Given the description of an element on the screen output the (x, y) to click on. 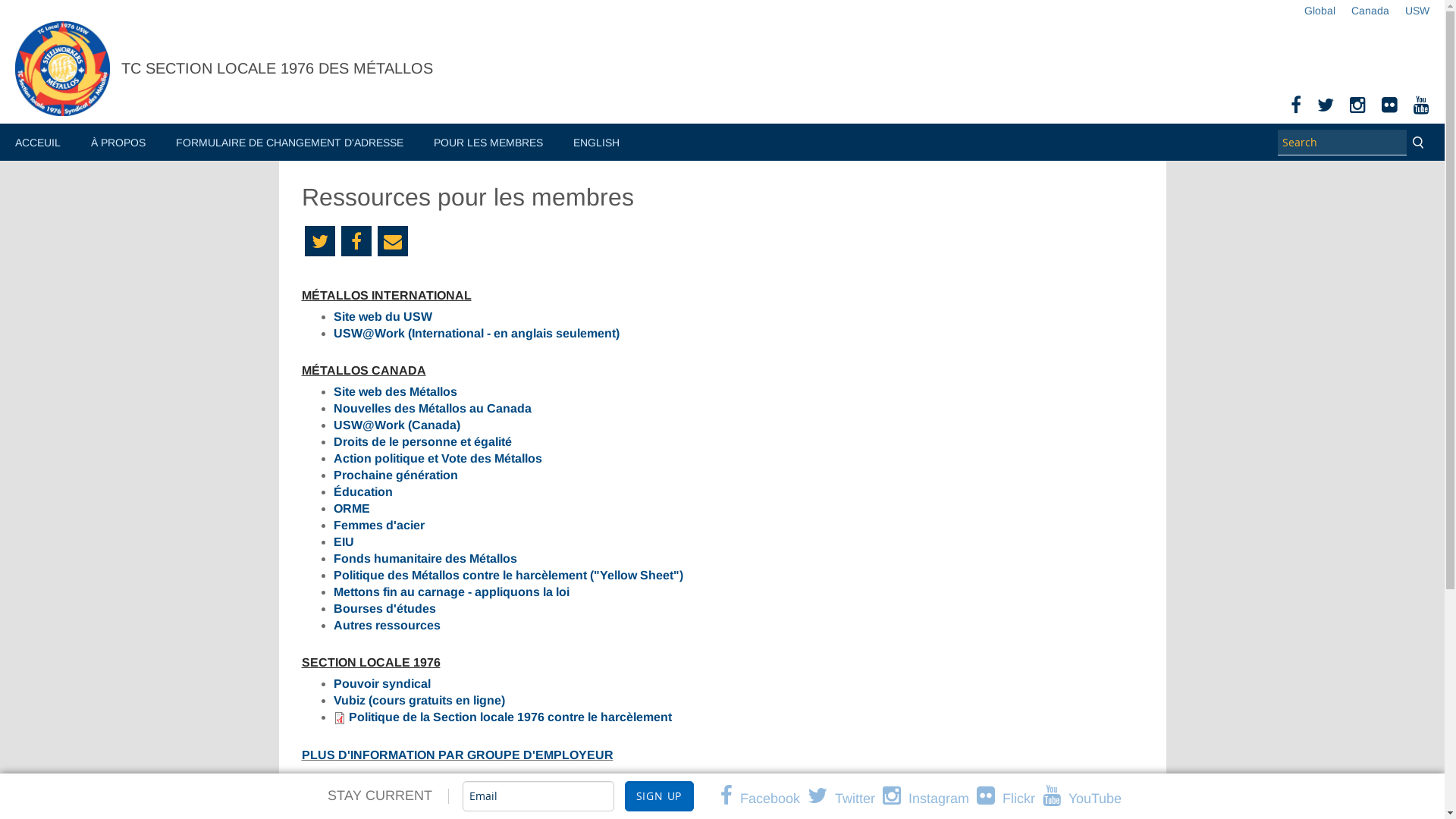
YouTube Element type: text (1421, 106)
ORME Element type: text (351, 508)
Search Element type: text (1417, 142)
Pouvoir syndical Element type: text (381, 683)
ENGLISH Element type: text (596, 144)
Canada Element type: text (1362, 10)
Mettons fin au carnage - appliquons la loi Element type: text (451, 591)
Facebook Element type: text (763, 799)
FORMULAIRE DE CHANGEMENT D'ADRESSE Element type: text (289, 144)
Flickr Element type: text (1009, 799)
Skip to main content Element type: text (54, 0)
Twitter Element type: text (1325, 106)
USW Element type: text (1409, 10)
Instagram Element type: text (1357, 106)
Email Element type: text (392, 240)
Facebook Element type: text (1295, 106)
application/pdf Element type: hover (339, 718)
PLUS D'INFORMATION PAR GROUPE D'EMPLOYEUR Element type: text (457, 754)
USW@Work (Canada) Element type: text (396, 424)
YouTube Element type: text (1085, 799)
POUR LES MEMBRES Element type: text (487, 144)
EIU Element type: text (343, 541)
Facebook Element type: text (356, 240)
Femmes d'acier Element type: text (378, 524)
Twitter Element type: text (844, 799)
Flickr Element type: text (1389, 106)
ACCEUIL Element type: text (37, 144)
Site web du USW Element type: text (382, 316)
Vubiz (cours gratuits en ligne) Element type: text (419, 699)
Global Element type: text (1311, 10)
Instagram Element type: text (929, 799)
Twitter Element type: text (319, 240)
USW@Work (International - en anglais seulement) Element type: text (476, 332)
Sign Up Element type: text (658, 796)
Autres ressources Element type: text (386, 624)
